Given the description of an element on the screen output the (x, y) to click on. 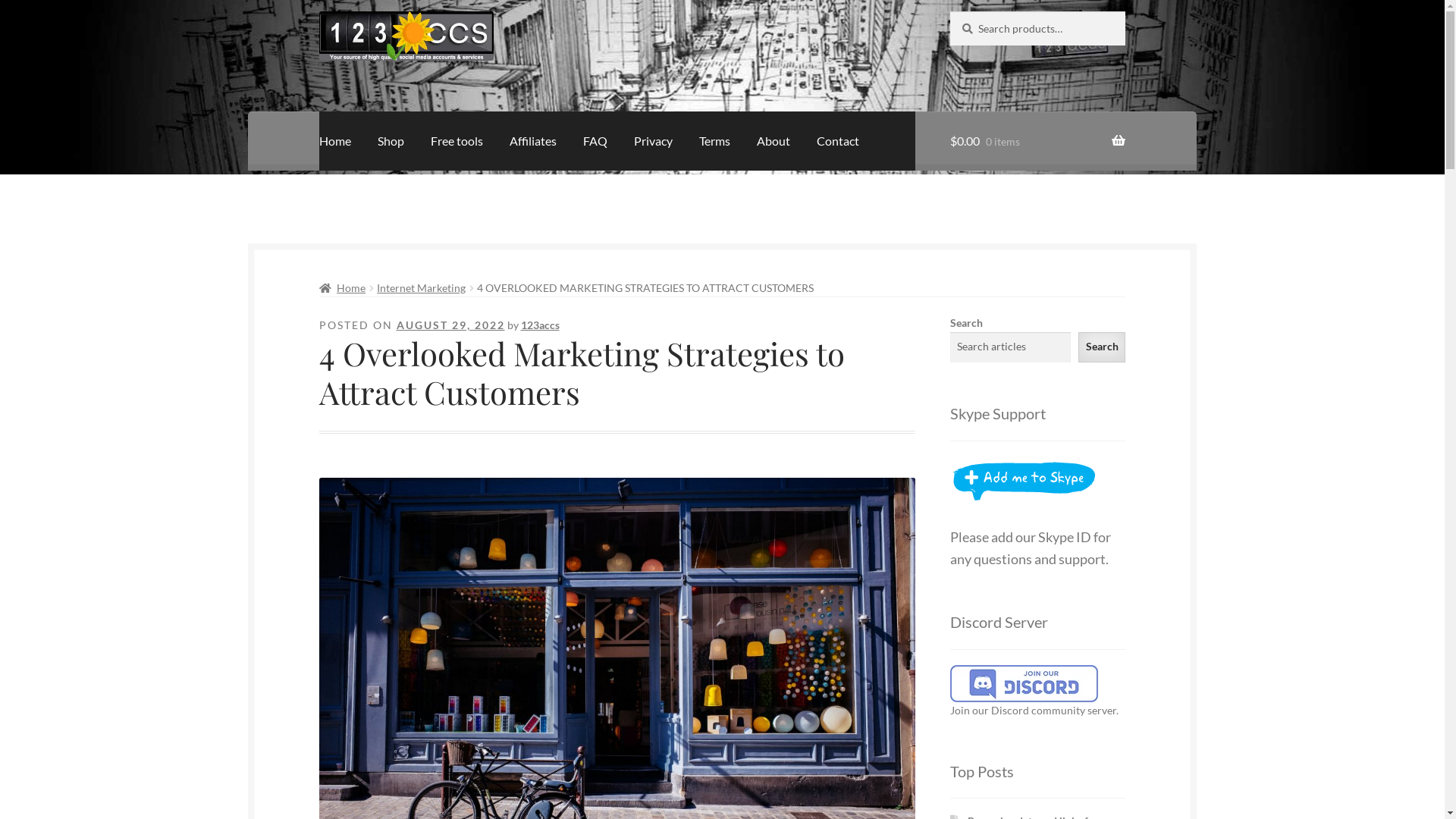
123accs Element type: text (539, 324)
FAQ Element type: text (595, 140)
$0.00 0 items Element type: text (1037, 140)
Affiliates Element type: text (532, 140)
About Element type: text (773, 140)
Free tools Element type: text (456, 140)
AUGUST 29, 2022 Element type: text (450, 324)
Contact Element type: text (837, 140)
Privacy Element type: text (652, 140)
Shop Element type: text (390, 140)
Skip to navigation Element type: text (318, 10)
Internet Marketing Element type: text (420, 287)
Home Element type: text (342, 287)
Search Element type: text (1102, 347)
Home Element type: text (335, 140)
Terms Element type: text (714, 140)
Search Element type: text (949, 10)
